Given the description of an element on the screen output the (x, y) to click on. 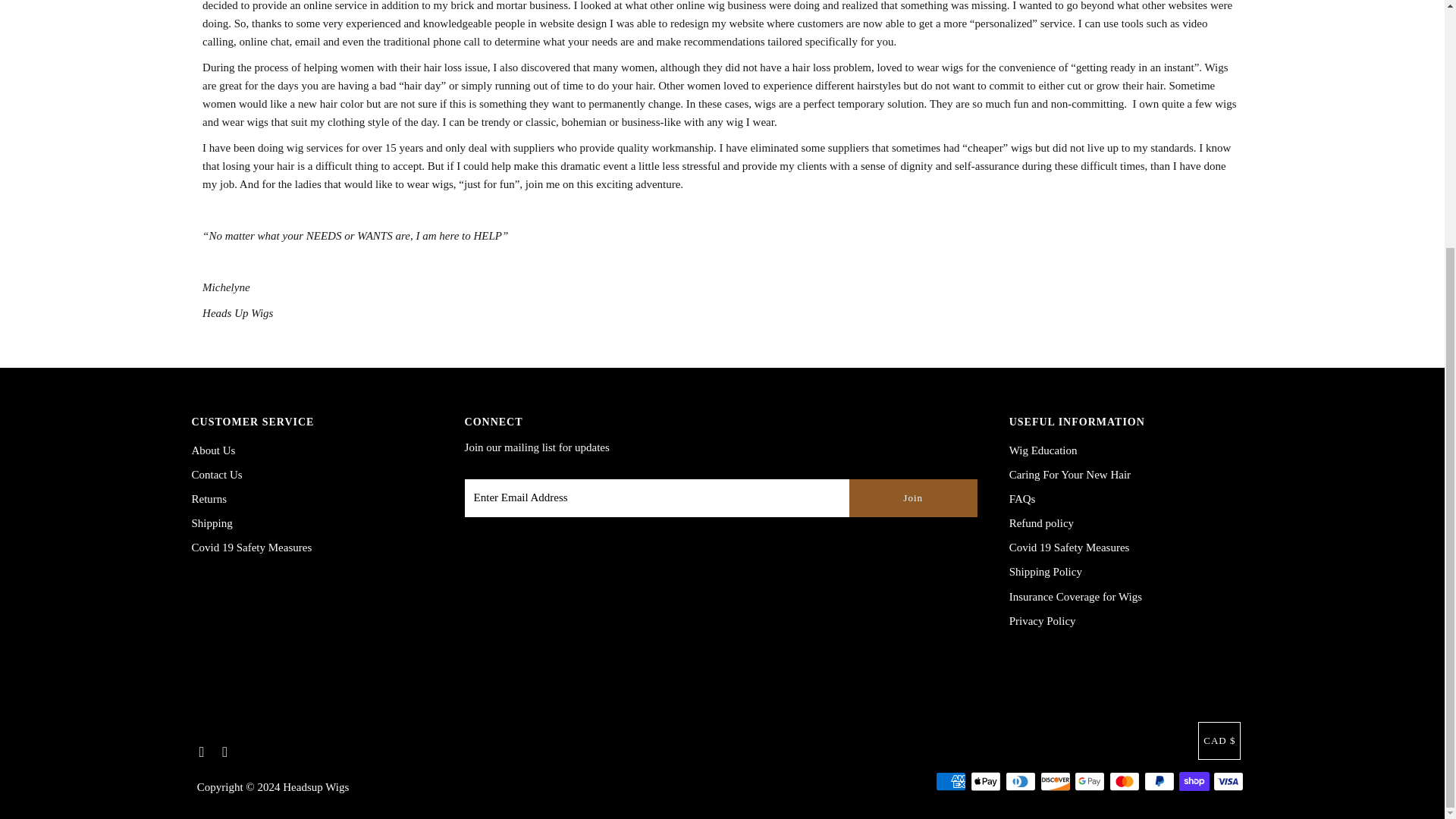
Mastercard (1124, 781)
Google Pay (1089, 781)
PayPal (1159, 781)
Shop Pay (1194, 781)
Join (912, 497)
Visa (1227, 781)
Diners Club (1020, 781)
American Express (951, 781)
Apple Pay (986, 781)
Discover (1055, 781)
